Given the description of an element on the screen output the (x, y) to click on. 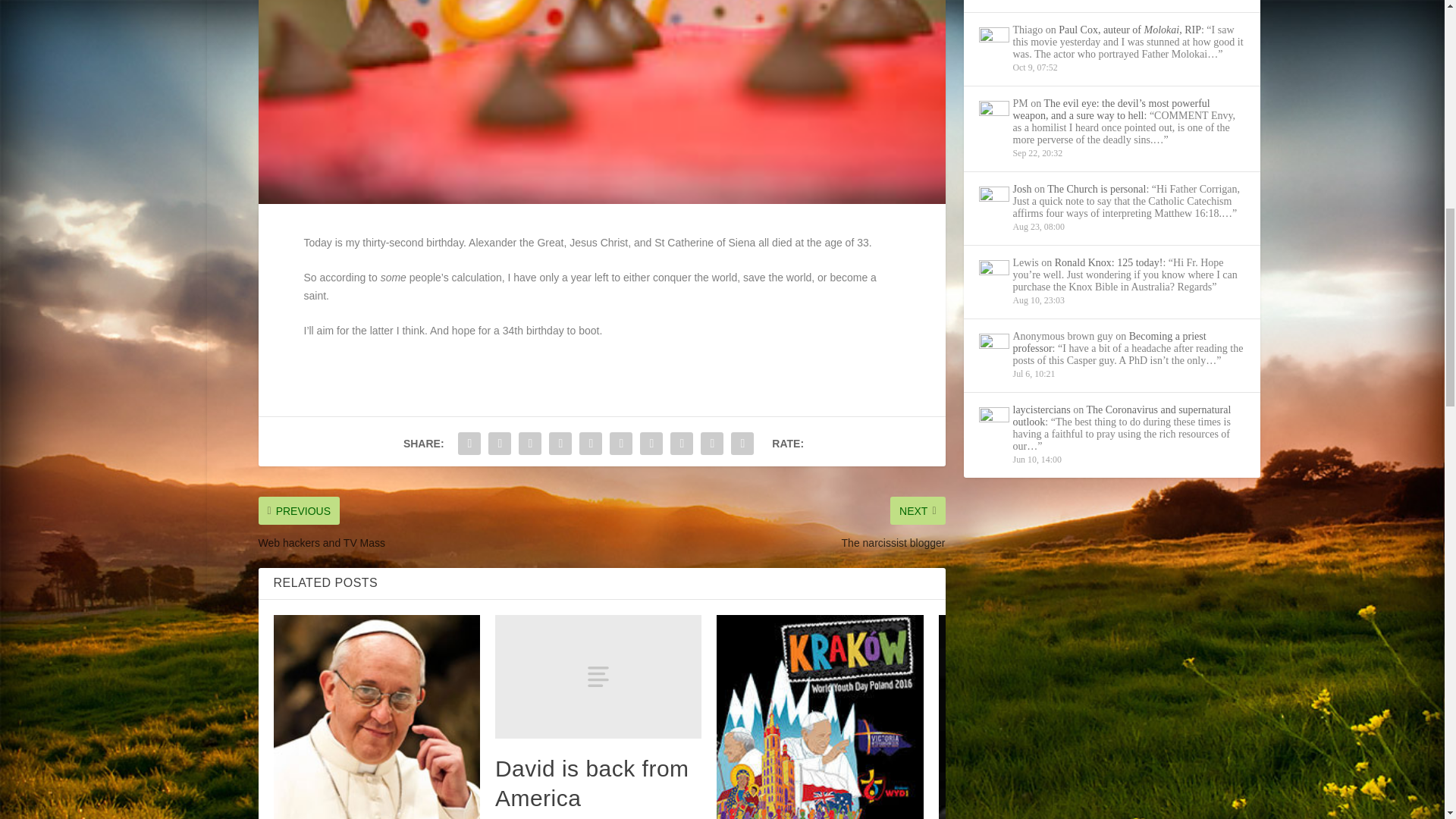
Share "On this day in 1981" via Email (711, 443)
Share "On this day in 1981" via Print (741, 443)
Share "On this day in 1981" via Facebook (469, 443)
David is back from America (598, 676)
Share "On this day in 1981" via LinkedIn (620, 443)
Share "On this day in 1981" via Stumbleupon (681, 443)
Share "On this day in 1981" via Pinterest (590, 443)
Share "On this day in 1981" via Buffer (651, 443)
David is back from America (591, 782)
Share "On this day in 1981" via Twitter (499, 443)
